Given the description of an element on the screen output the (x, y) to click on. 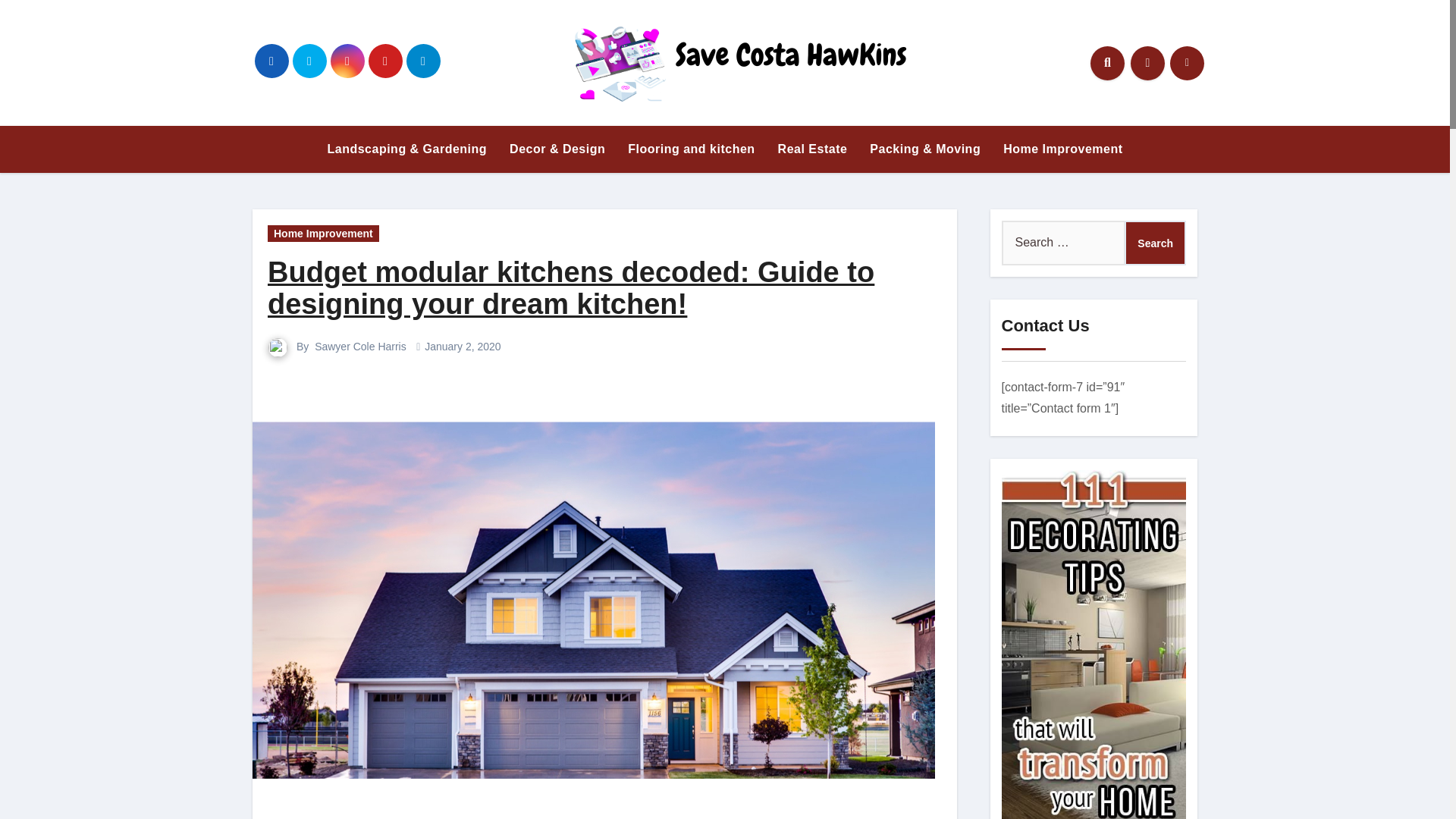
Home Improvement (1062, 149)
Flooring and kitchen (690, 149)
Real Estate (813, 149)
Home Improvement (1062, 149)
Search (1155, 242)
Flooring and kitchen (690, 149)
Search (1155, 242)
January 2, 2020 (462, 346)
Sawyer Cole Harris (360, 346)
Real Estate (813, 149)
Home Improvement (322, 233)
